Given the description of an element on the screen output the (x, y) to click on. 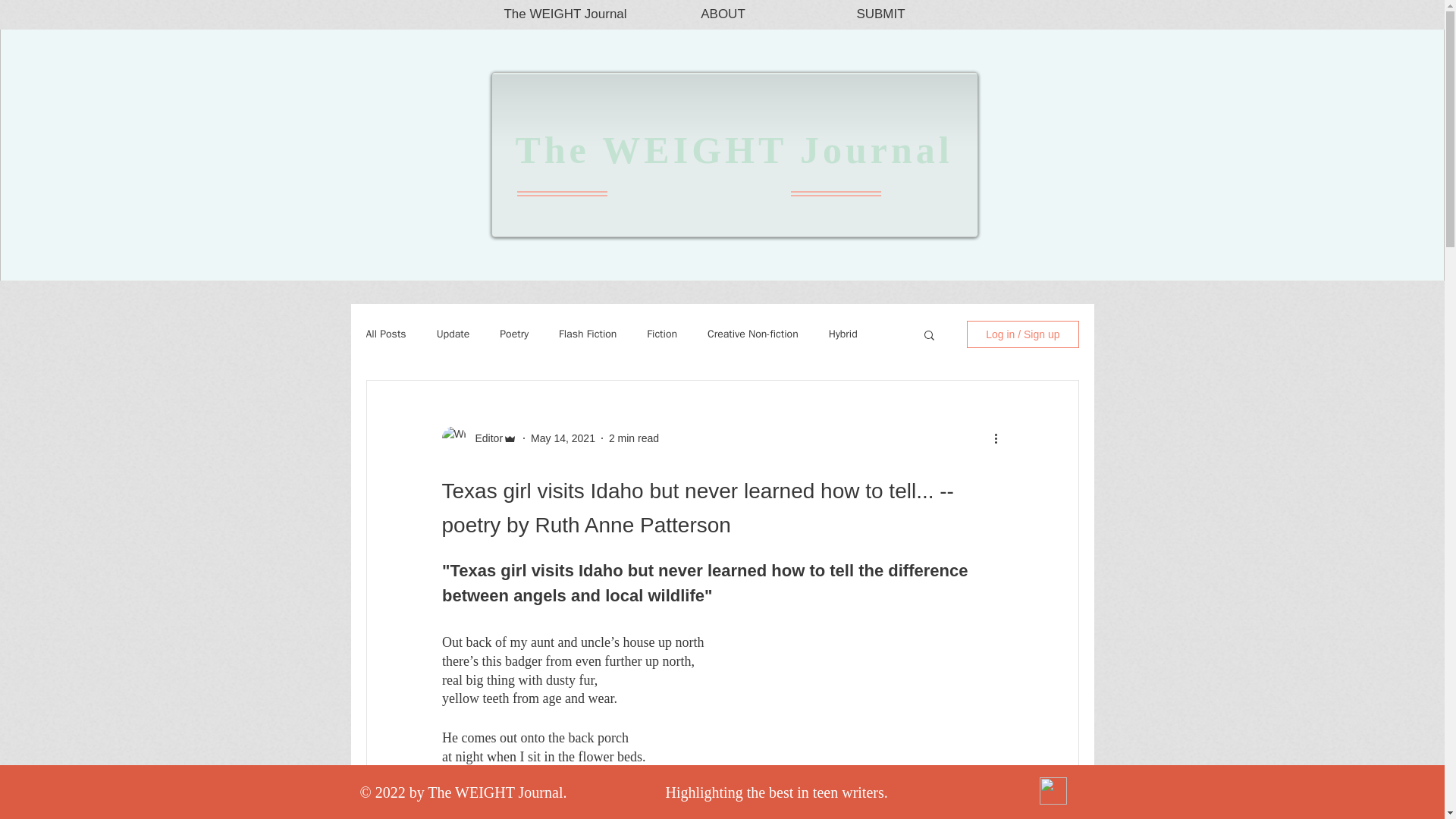
Poetry (513, 334)
Creative Non-fiction (752, 334)
May 14, 2021 (563, 438)
Fiction (661, 334)
SUBMIT (880, 14)
Update (453, 334)
2 min read (633, 438)
ABOUT (723, 14)
The WEIGHT Journal (733, 149)
Editor (483, 438)
The WEIGHT Journal (565, 14)
All Posts (385, 334)
Hybrid (842, 334)
Flash Fiction (587, 334)
